Given the description of an element on the screen output the (x, y) to click on. 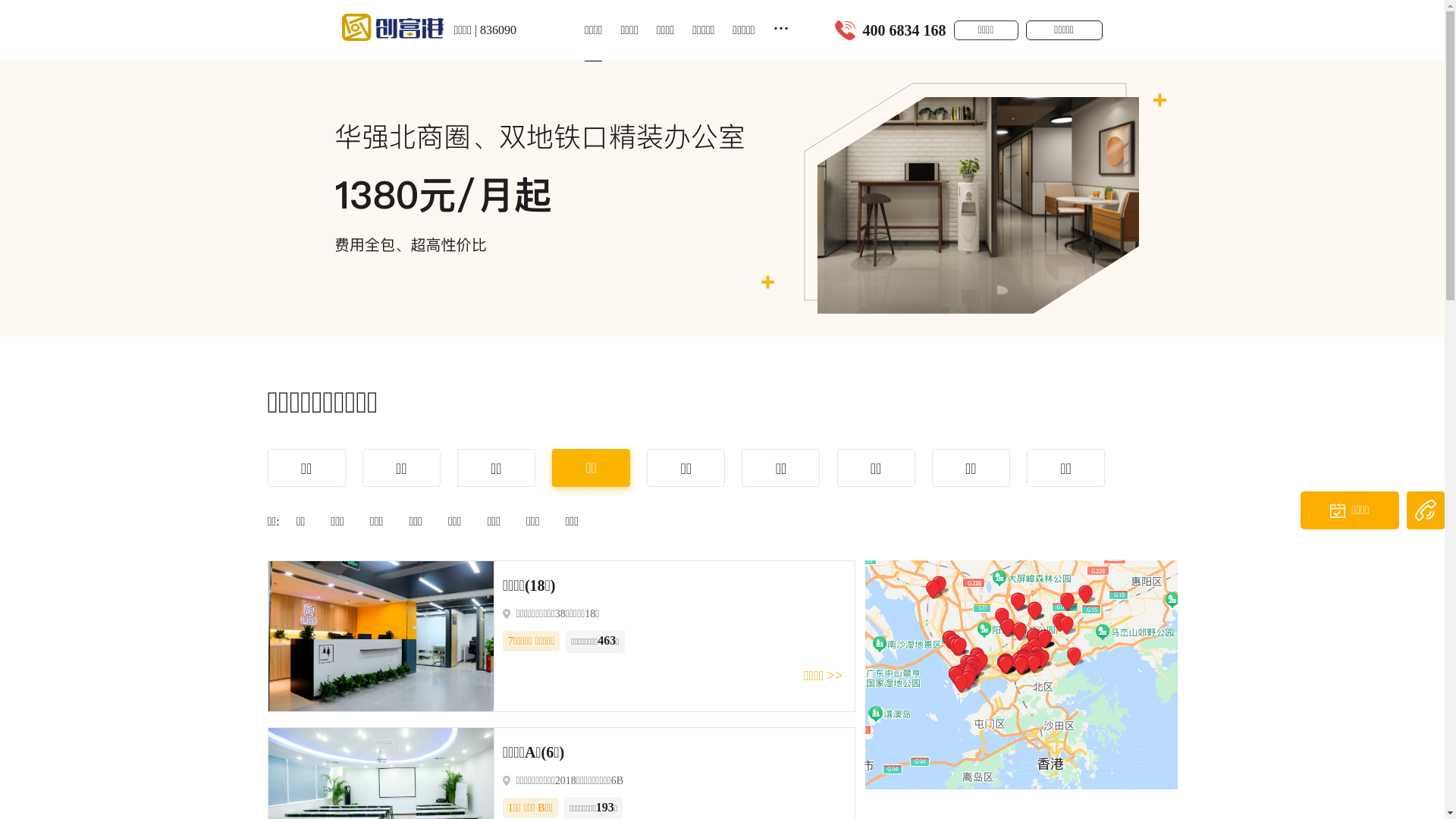
400 6834 168 Element type: text (904, 29)
